Given the description of an element on the screen output the (x, y) to click on. 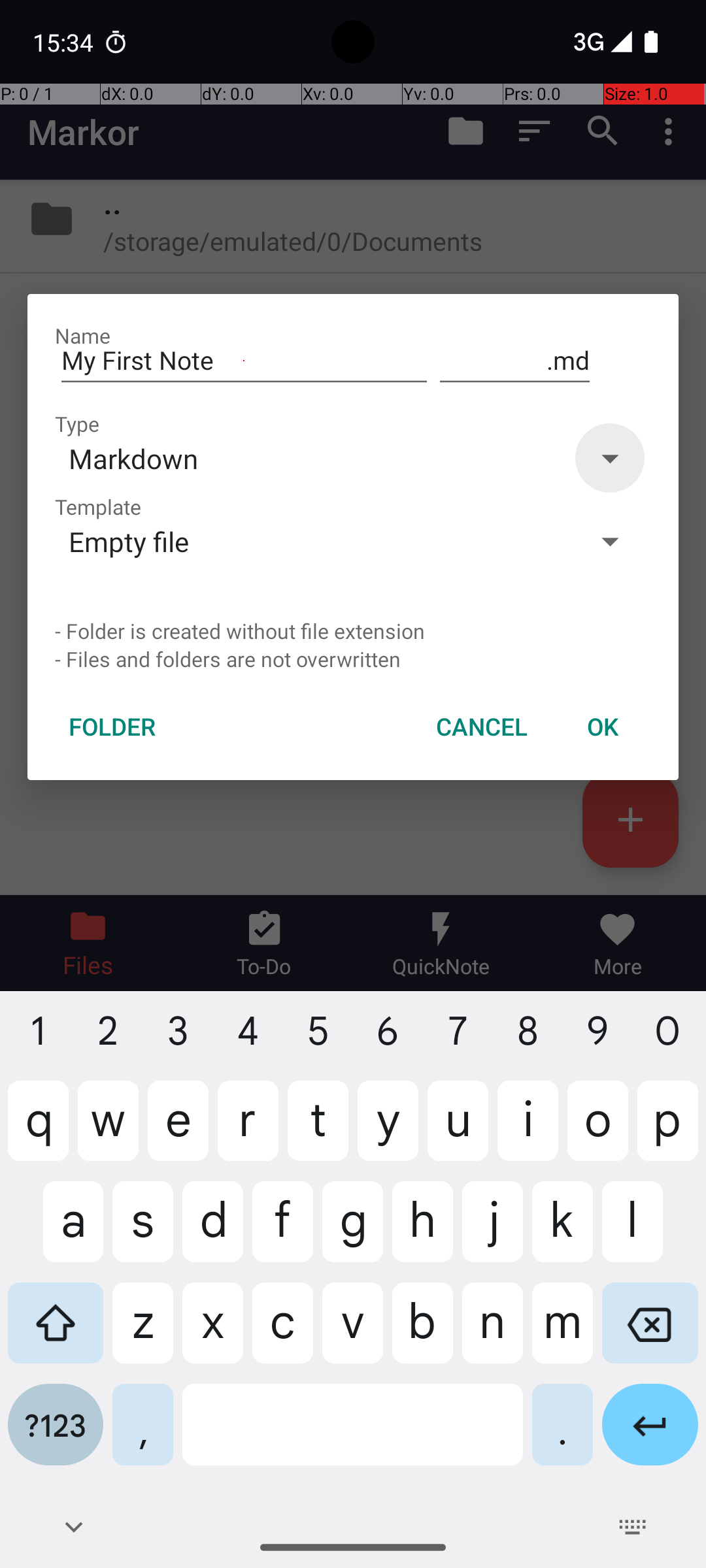
My First Note Element type: android.widget.EditText (243, 360)
